Given the description of an element on the screen output the (x, y) to click on. 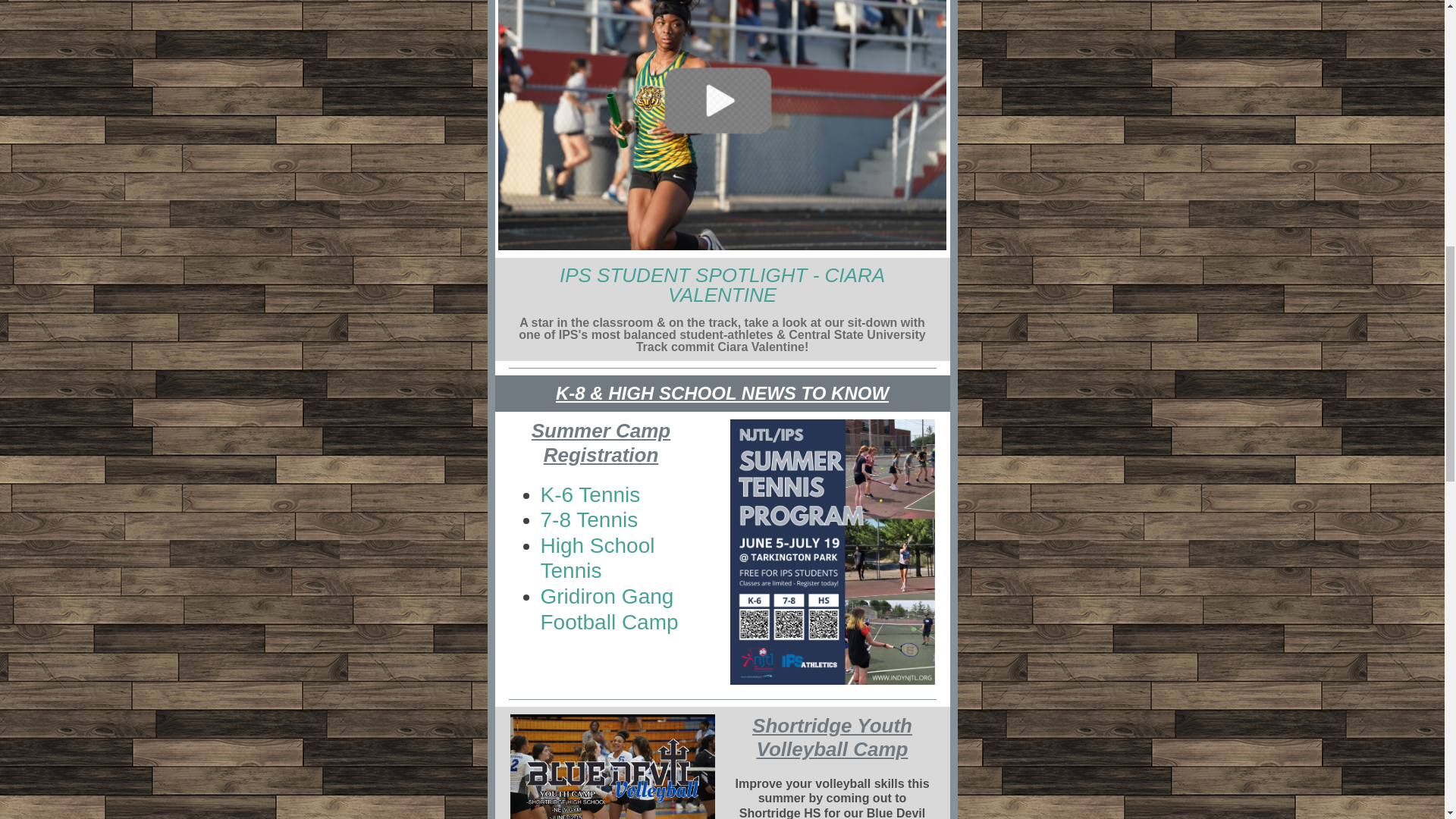
Gridiron Gang Football Camp (609, 608)
K-6 Tennis (590, 494)
7-8 Tennis (588, 519)
IPS STUDENT SPOTLIGHT - CIARA VALENTINE (722, 284)
High School Tennis (596, 558)
